Given the description of an element on the screen output the (x, y) to click on. 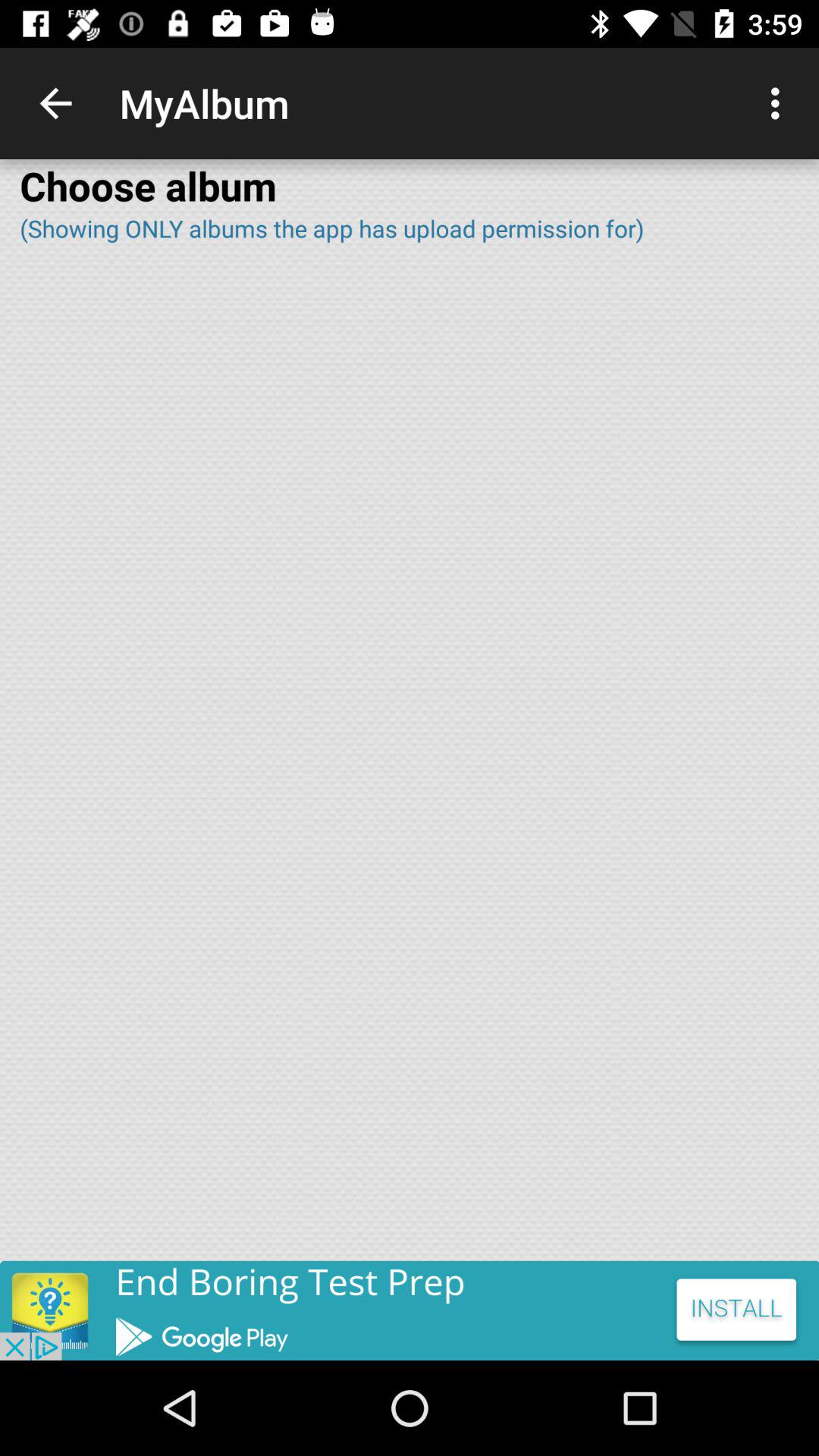
album box (409, 762)
